Given the description of an element on the screen output the (x, y) to click on. 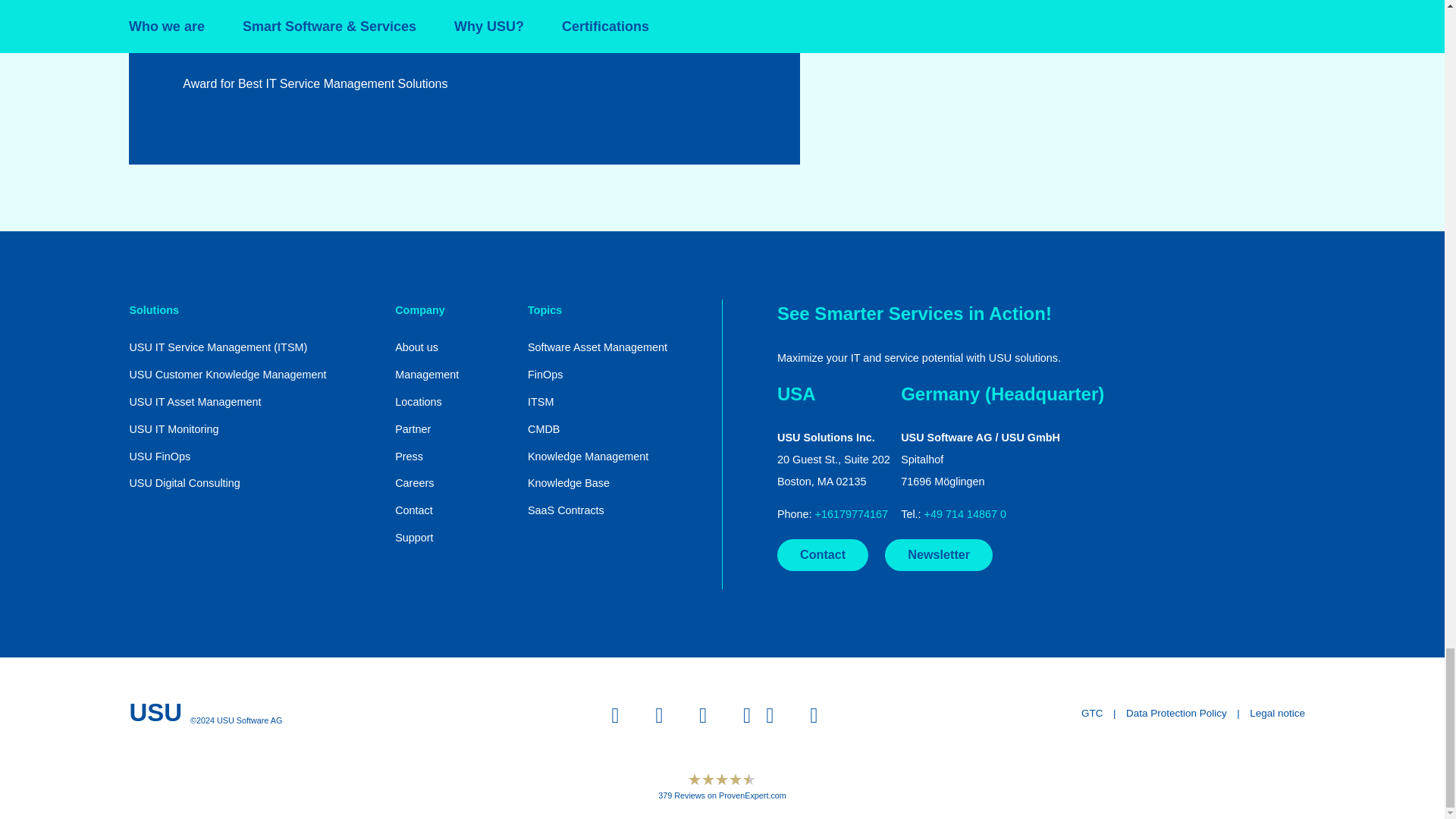
Xing (820, 715)
Facebook (710, 715)
Youtube (622, 715)
Twitter (666, 715)
LinkedIn (765, 715)
